Given the description of an element on the screen output the (x, y) to click on. 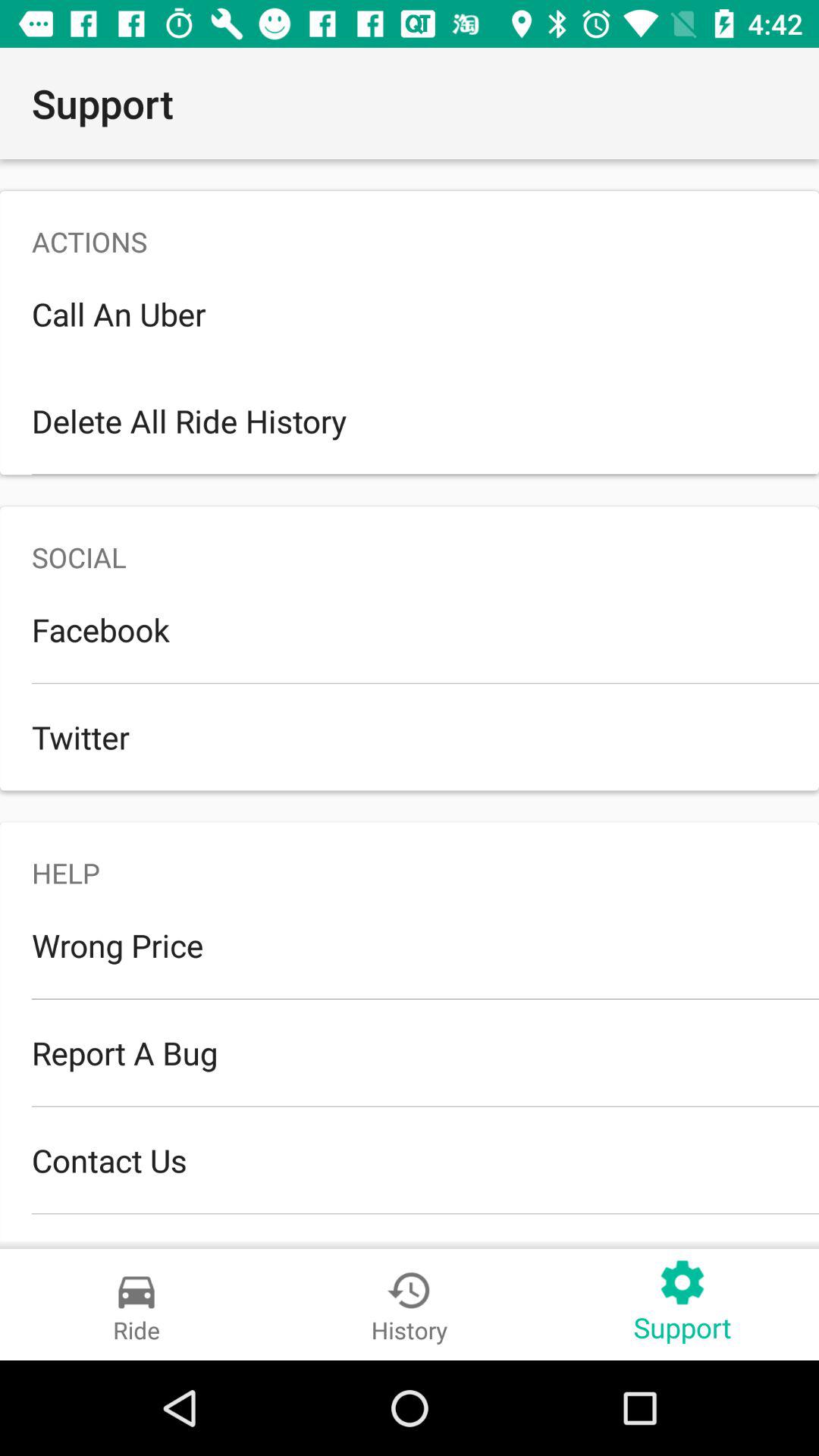
click on the icon above ride (136, 1290)
click on the button beside ride (409, 1304)
click on the right bottom corner button of the page (682, 1304)
